Given the description of an element on the screen output the (x, y) to click on. 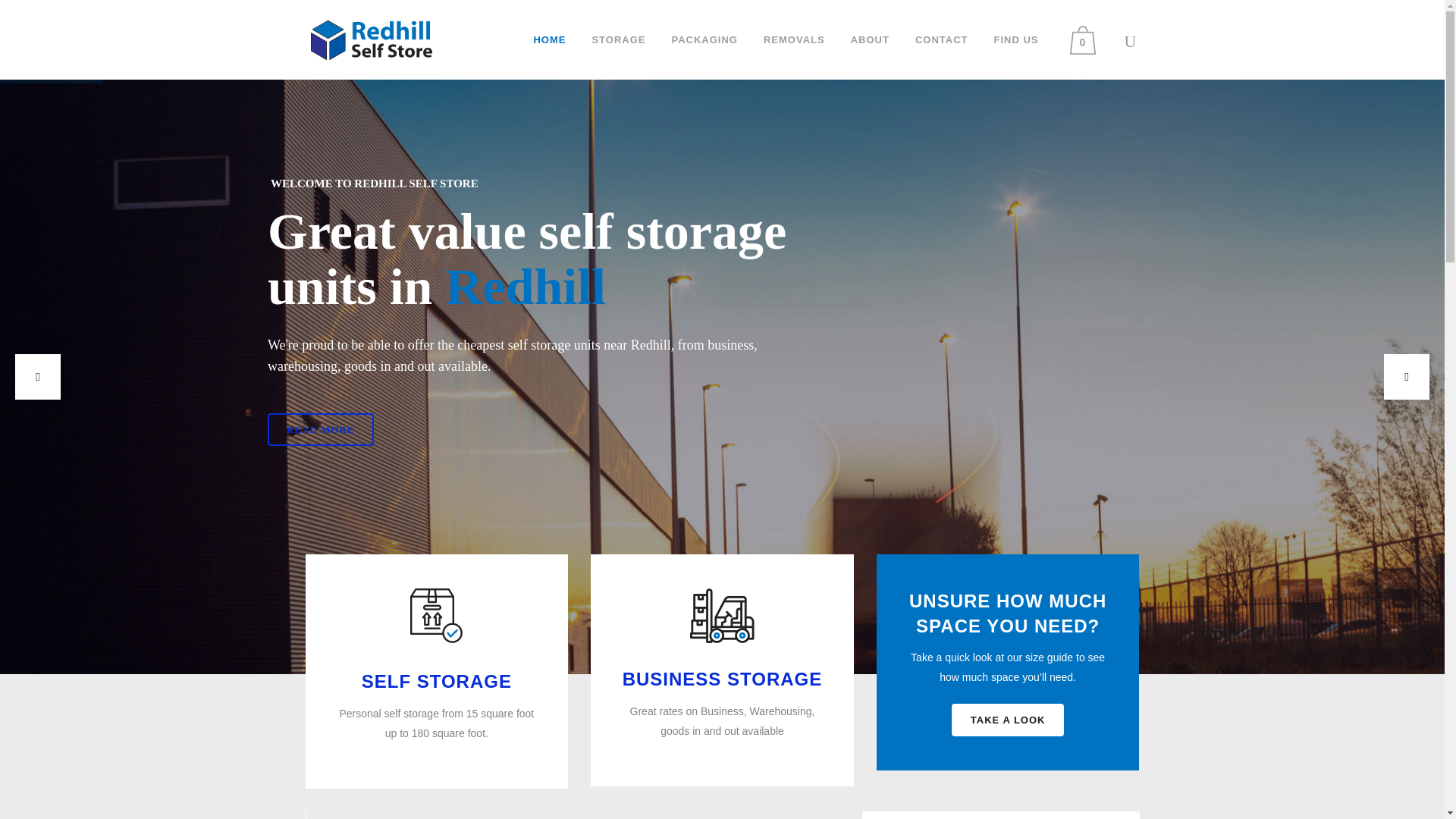
CONTACT (941, 39)
HOME (548, 39)
0 (1085, 39)
PACKAGING (703, 39)
TAKE A LOOK (1008, 719)
READ MORE (320, 429)
FIND US (1016, 39)
STORAGE (618, 39)
REMOVALS (794, 39)
ABOUT (870, 39)
